Given the description of an element on the screen output the (x, y) to click on. 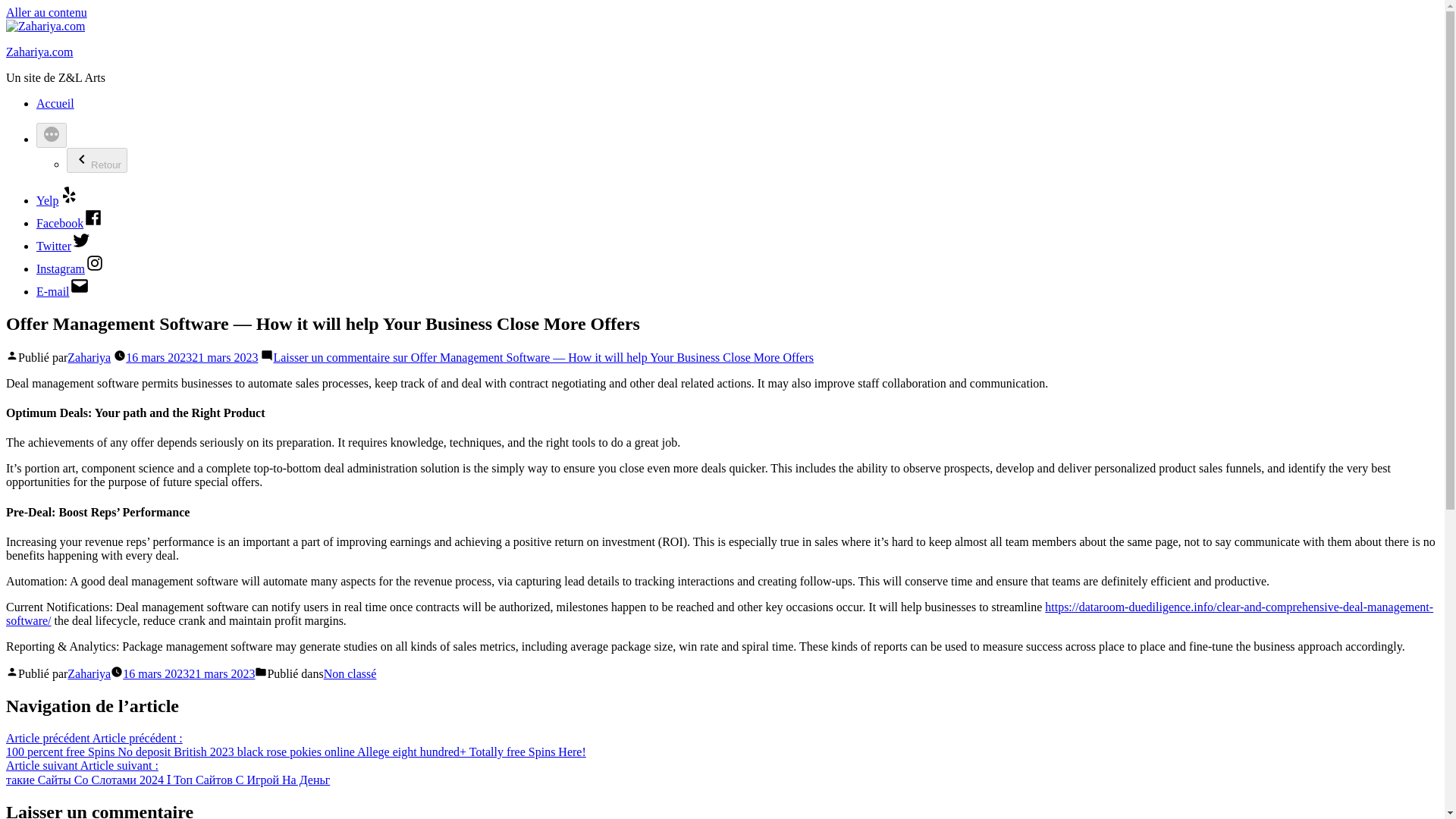
Facebook (69, 223)
Accueil (55, 103)
Zahariya.com (38, 51)
16 mars 202321 mars 2023 (191, 357)
Yelp (57, 200)
Retour (97, 160)
Twitter (63, 245)
E-mail (62, 291)
Aller au contenu (46, 11)
Zahariya (88, 357)
